Given the description of an element on the screen output the (x, y) to click on. 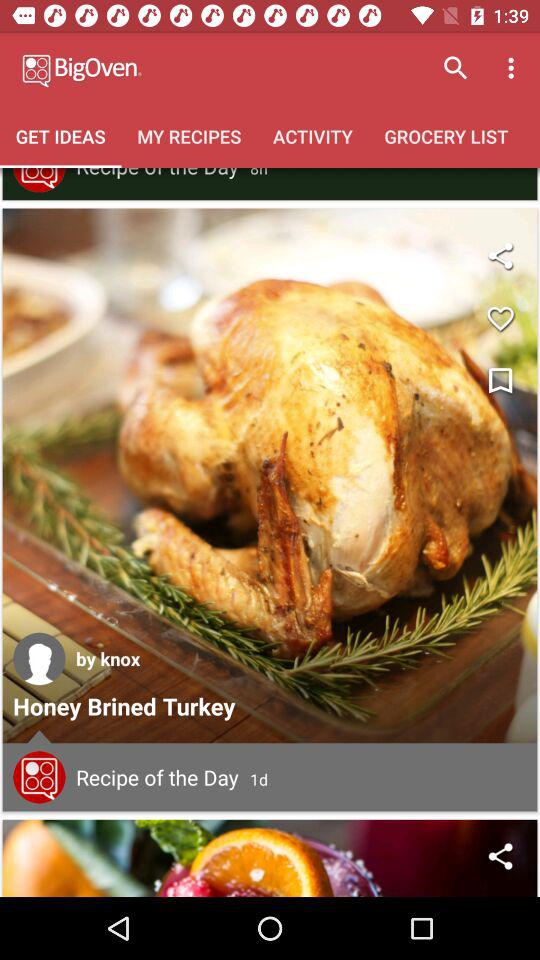
share the recipe (269, 858)
